Given the description of an element on the screen output the (x, y) to click on. 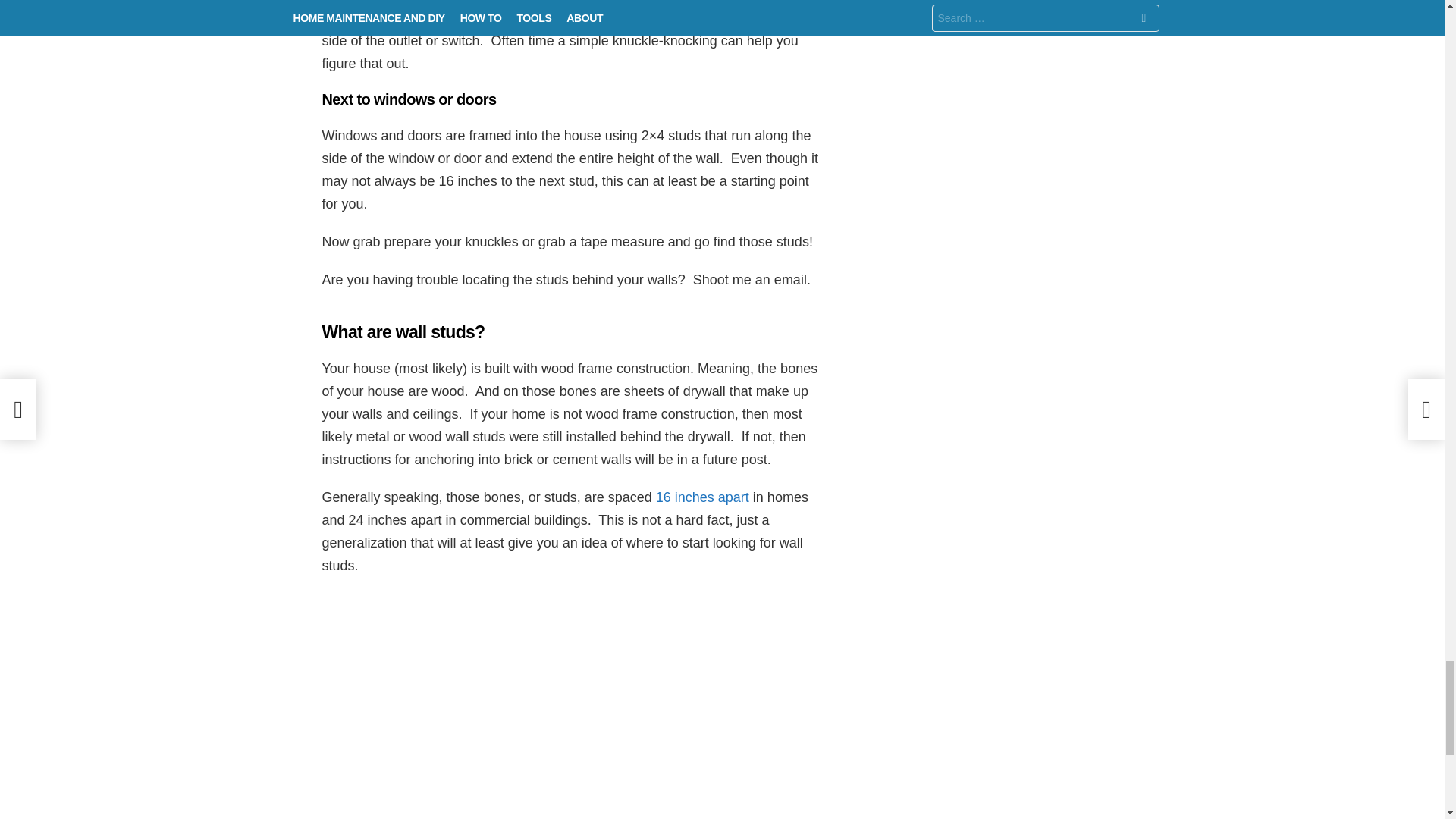
It's EASY to Find Studs WITHOUT A STUD FINDER!!!!! (572, 705)
behind the drywall (375, 17)
16 inches apart (702, 497)
